Given the description of an element on the screen output the (x, y) to click on. 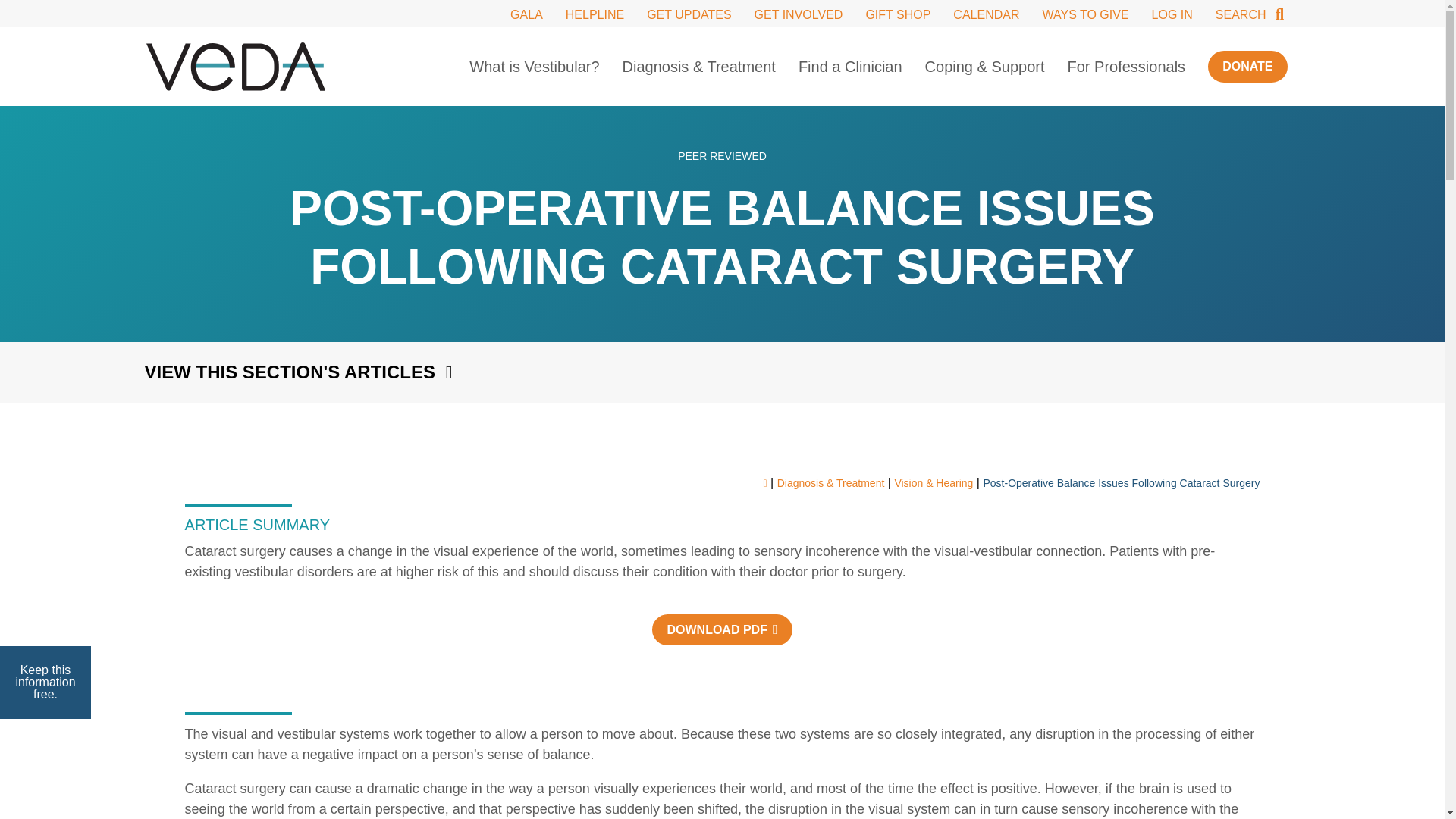
DONATE (1247, 65)
For Professionals (1126, 66)
Home (234, 66)
WAYS TO GIVE (1085, 13)
CALENDAR (986, 13)
Find a Clinician (849, 66)
Keep this information free. (45, 682)
HELPLINE (595, 13)
DOWNLOAD PDF (722, 629)
GET UPDATES (688, 13)
